Given the description of an element on the screen output the (x, y) to click on. 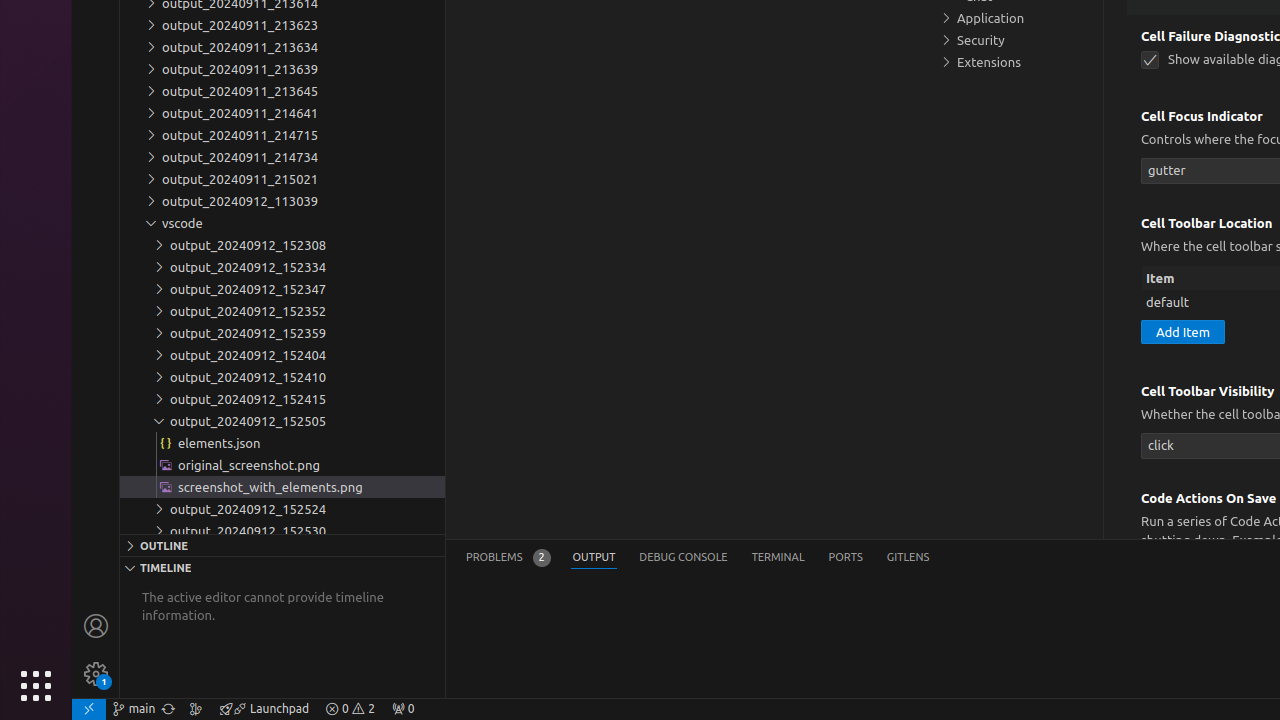
output_20240912_152308 Element type: tree-item (282, 245)
Ports Element type: page-tab (845, 557)
screenshot_with_elements.png Element type: tree-item (282, 487)
More Actions... (Shift+F9) Element type: push-button (1116, 496)
OSWorld (Git) - main, Checkout Branch/Tag... Element type: push-button (134, 709)
